Given the description of an element on the screen output the (x, y) to click on. 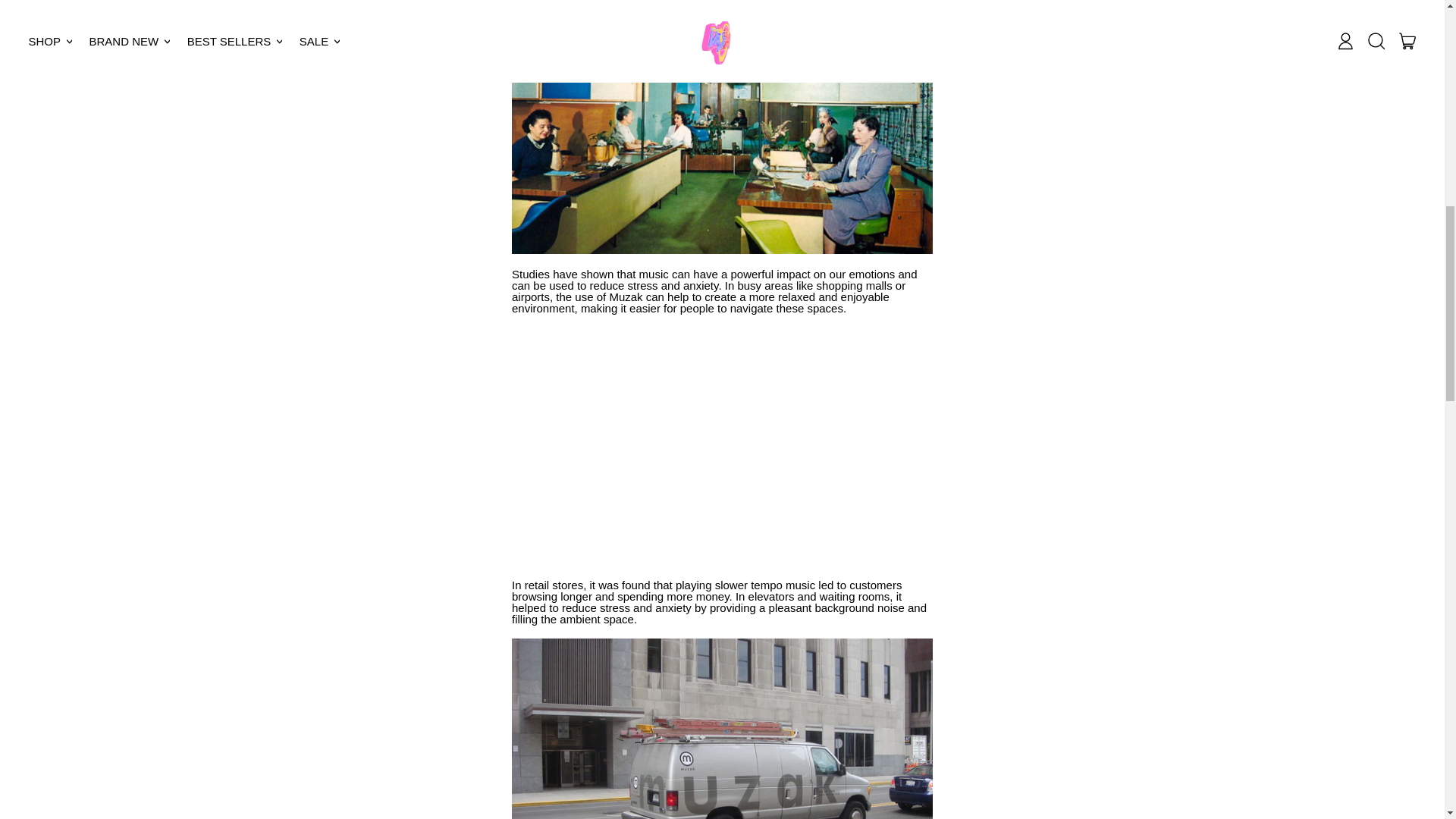
YouTube video player (722, 446)
